Given the description of an element on the screen output the (x, y) to click on. 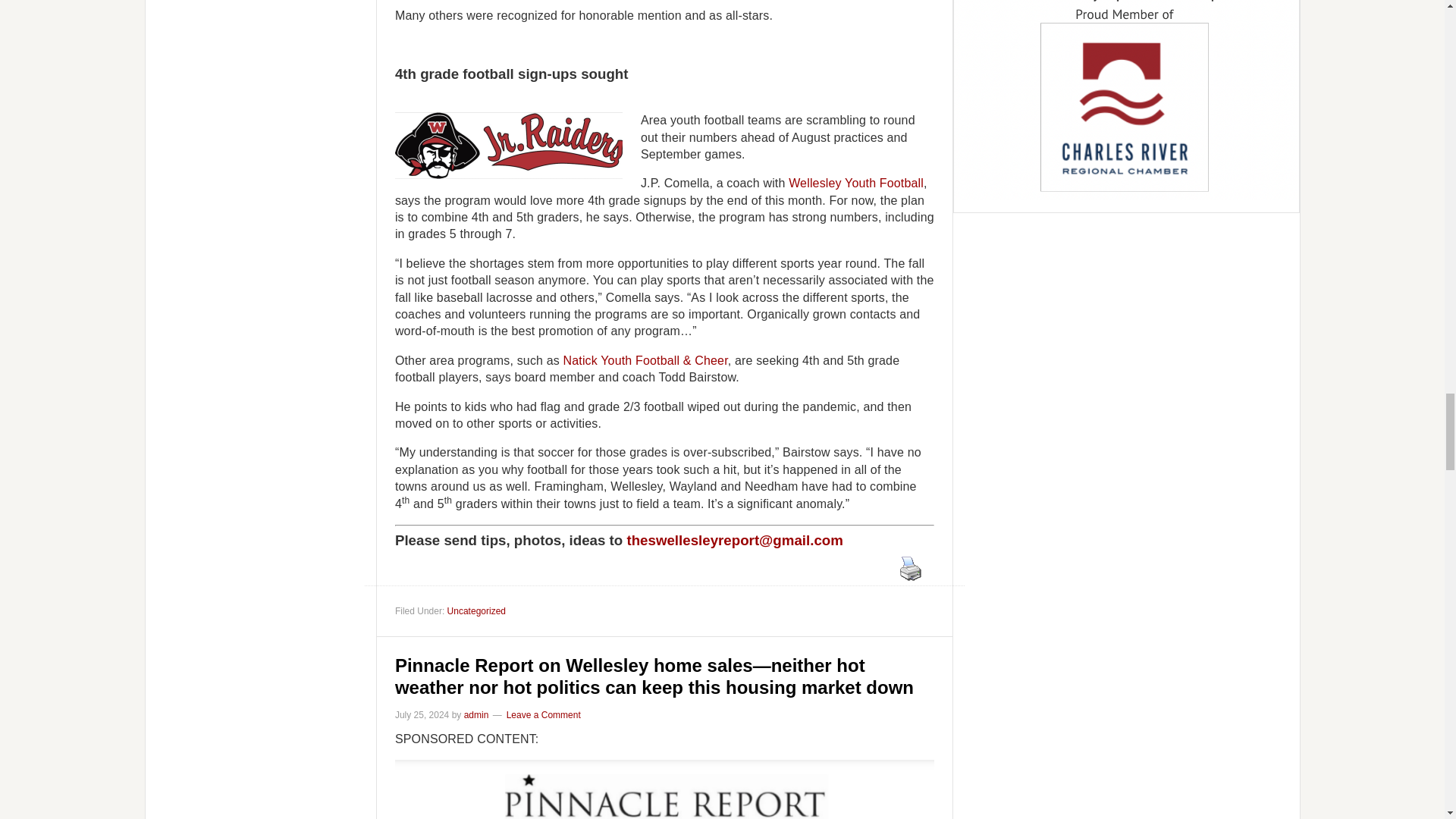
Print Content (910, 568)
